Given the description of an element on the screen output the (x, y) to click on. 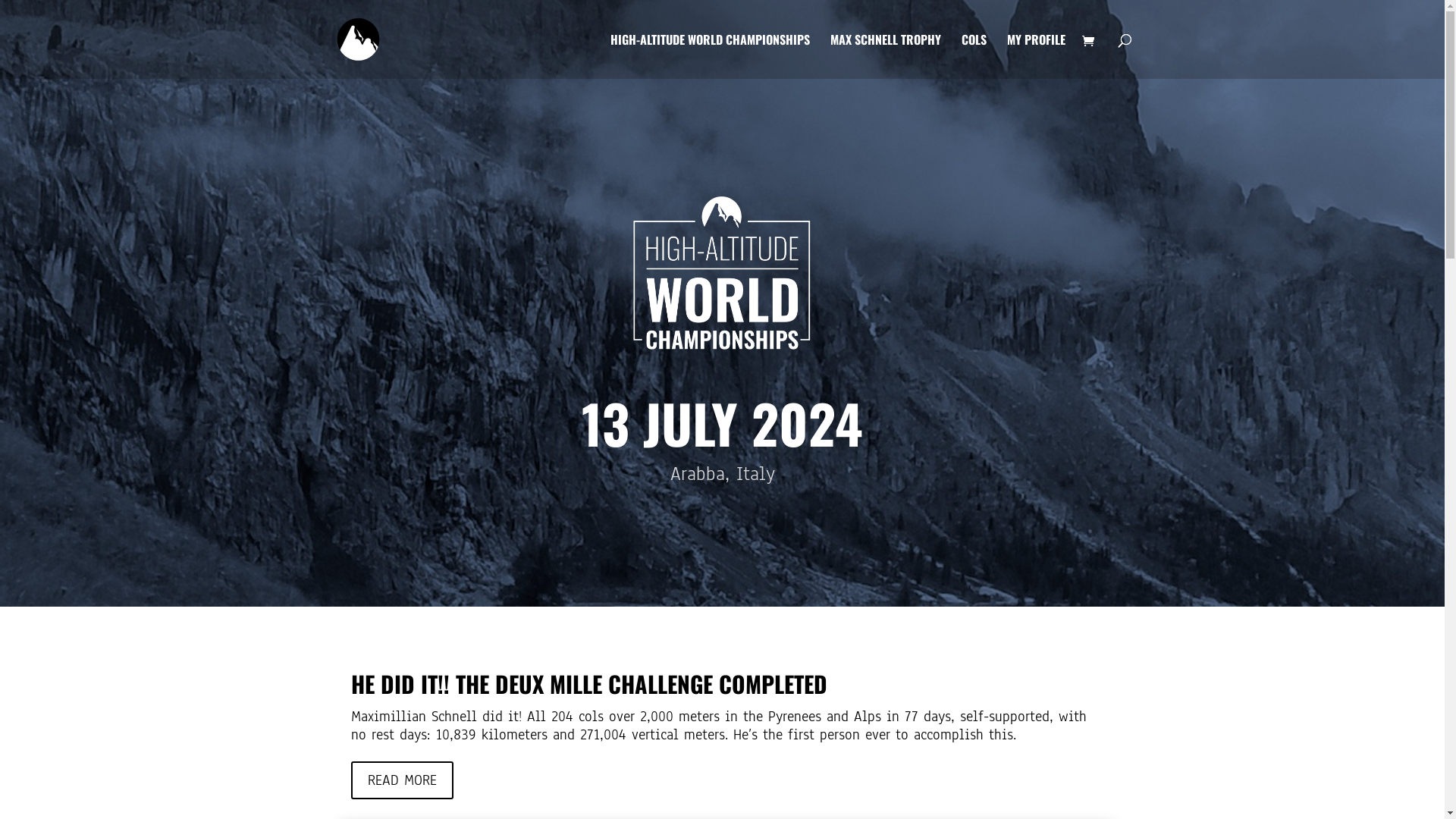
COLS Element type: text (973, 56)
MY PROFILE Element type: text (1036, 56)
MAX SCHNELL TROPHY Element type: text (884, 56)
HIGH-ALTITUDE WORLD CHAMPIONSHIPS Element type: text (709, 56)
READ MORE Element type: text (401, 780)
Deux Mille HAWC Logo-1 Element type: hover (722, 272)
